Given the description of an element on the screen output the (x, y) to click on. 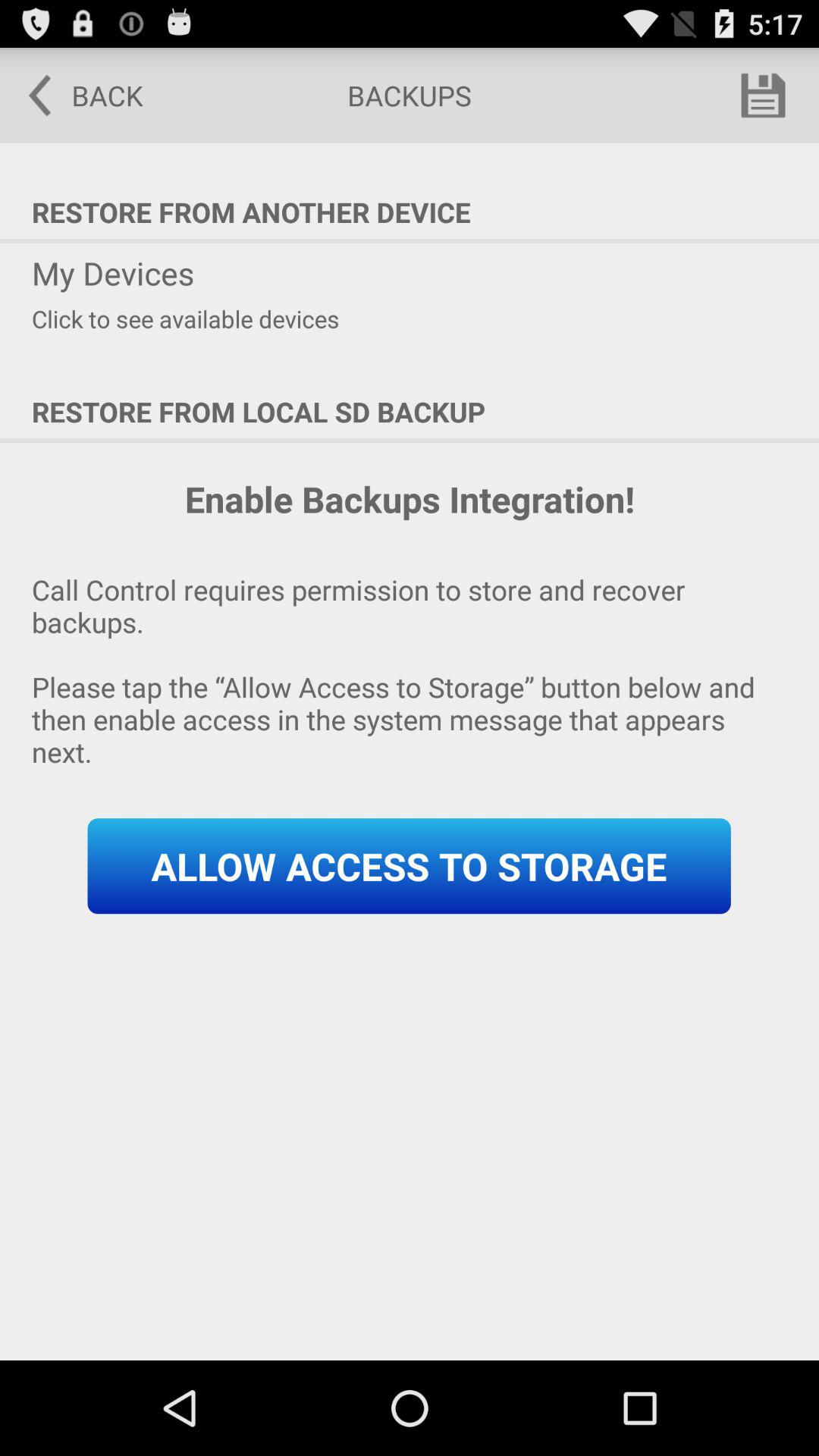
press the icon to the left of backups icon (75, 95)
